Given the description of an element on the screen output the (x, y) to click on. 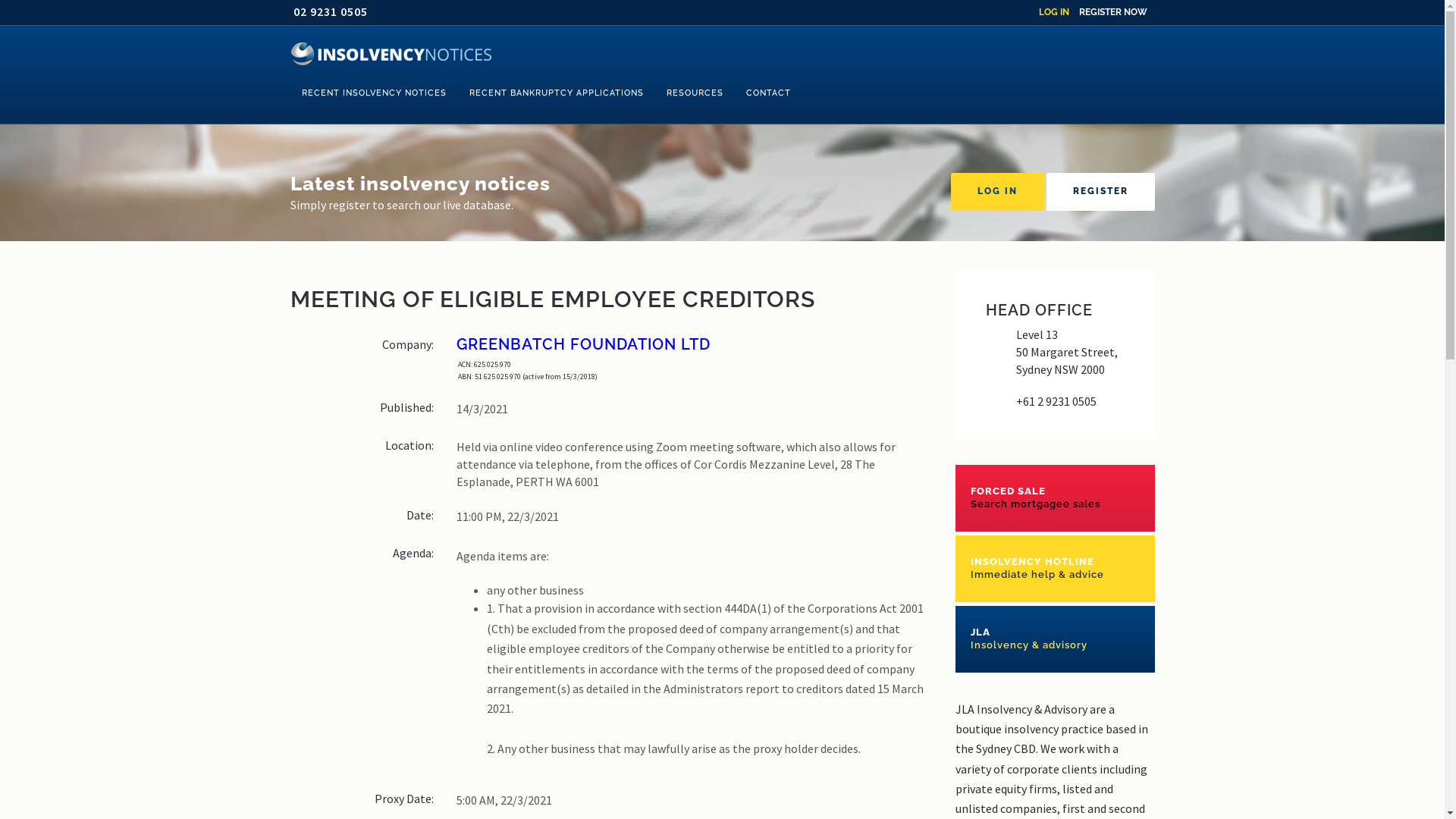
CONTACT Element type: text (767, 92)
LOG IN Element type: text (1053, 11)
RESOURCES Element type: text (694, 92)
REGISTER Element type: text (1100, 191)
JLA  
Insolvency & advisory Element type: text (1054, 638)
RECENT BANKRUPTCY APPLICATIONS Element type: text (556, 92)
REGISTER NOW Element type: text (1112, 11)
FORCED SALE  
Search mortgagee sales Element type: text (1054, 497)
GREENBATCH FOUNDATION LTD Element type: text (694, 341)
INSOLVENCY HOTLINE  
Immediate help & advice Element type: text (1054, 568)
LOG IN Element type: text (997, 191)
RECENT INSOLVENCY NOTICES Element type: text (373, 92)
